Given the description of an element on the screen output the (x, y) to click on. 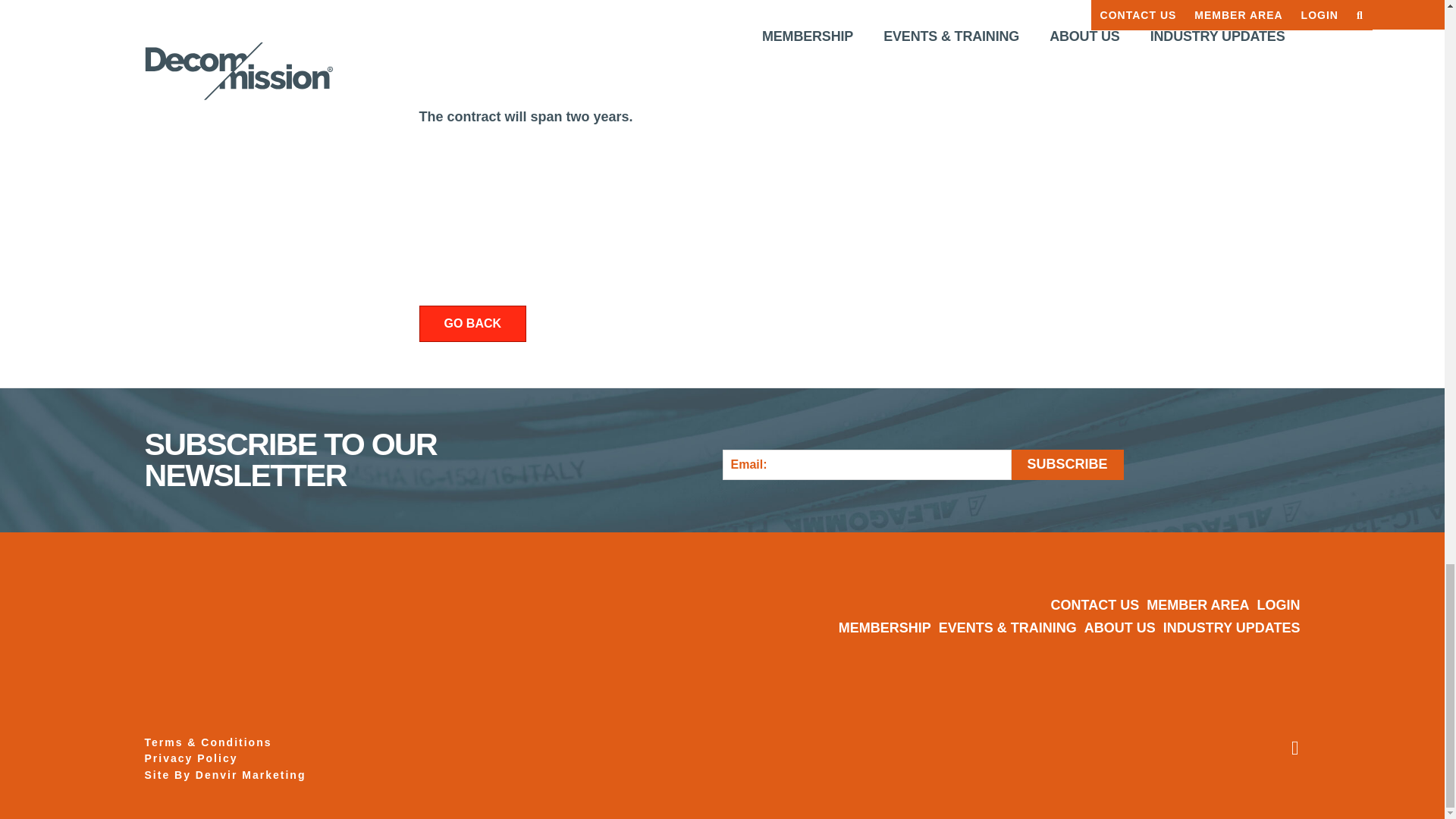
Return to the homepage (264, 616)
Return to the previous page (472, 324)
Email: (866, 464)
